Given the description of an element on the screen output the (x, y) to click on. 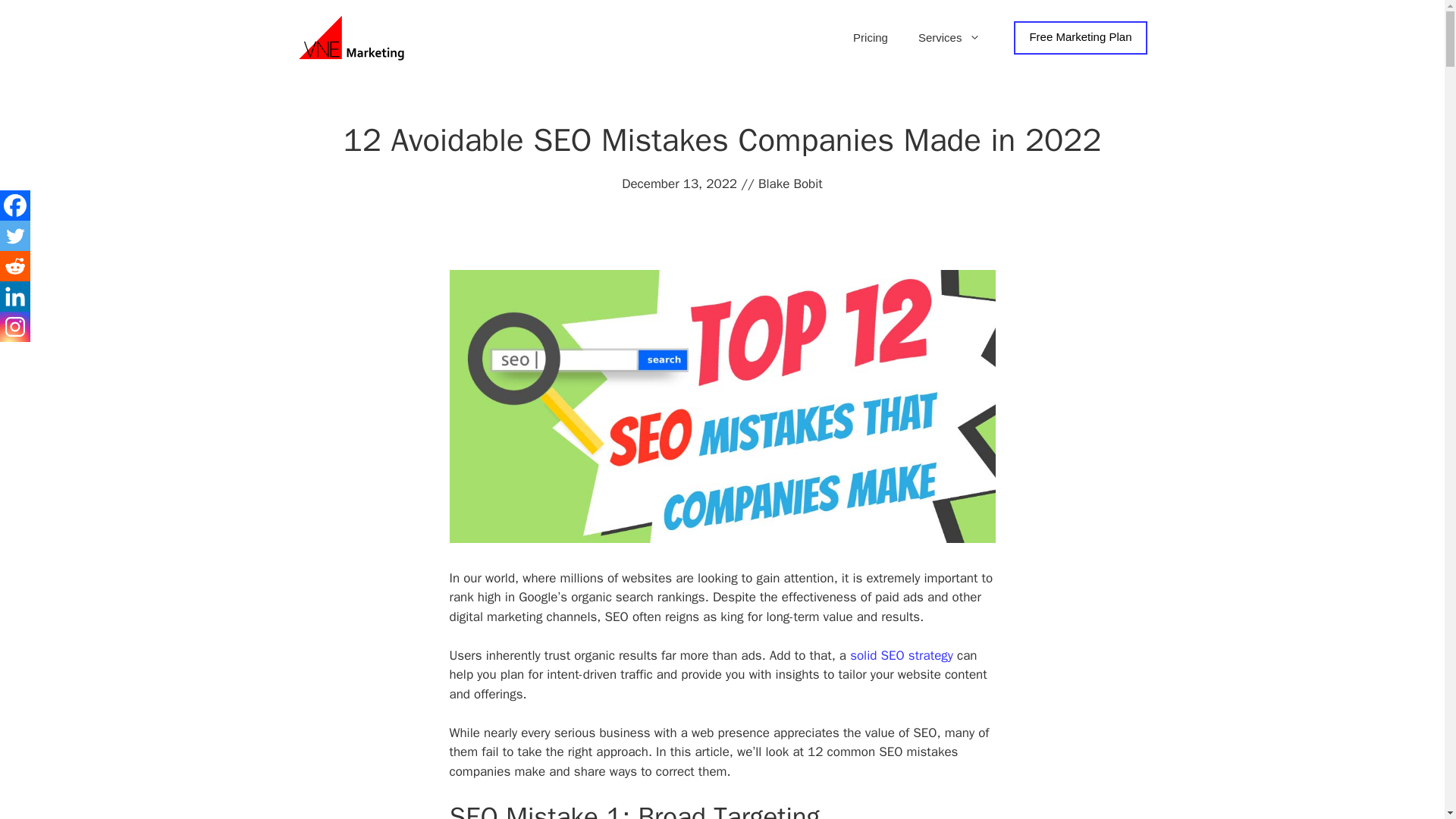
Reddit (15, 265)
Pricing (870, 37)
solid SEO strategy (901, 655)
Free Marketing Plan (1080, 37)
Facebook (15, 205)
Instagram (15, 327)
Linkedin (15, 296)
View all posts by Blake Bobit (790, 183)
Twitter (15, 235)
Services (948, 37)
Blake Bobit (790, 183)
